Given the description of an element on the screen output the (x, y) to click on. 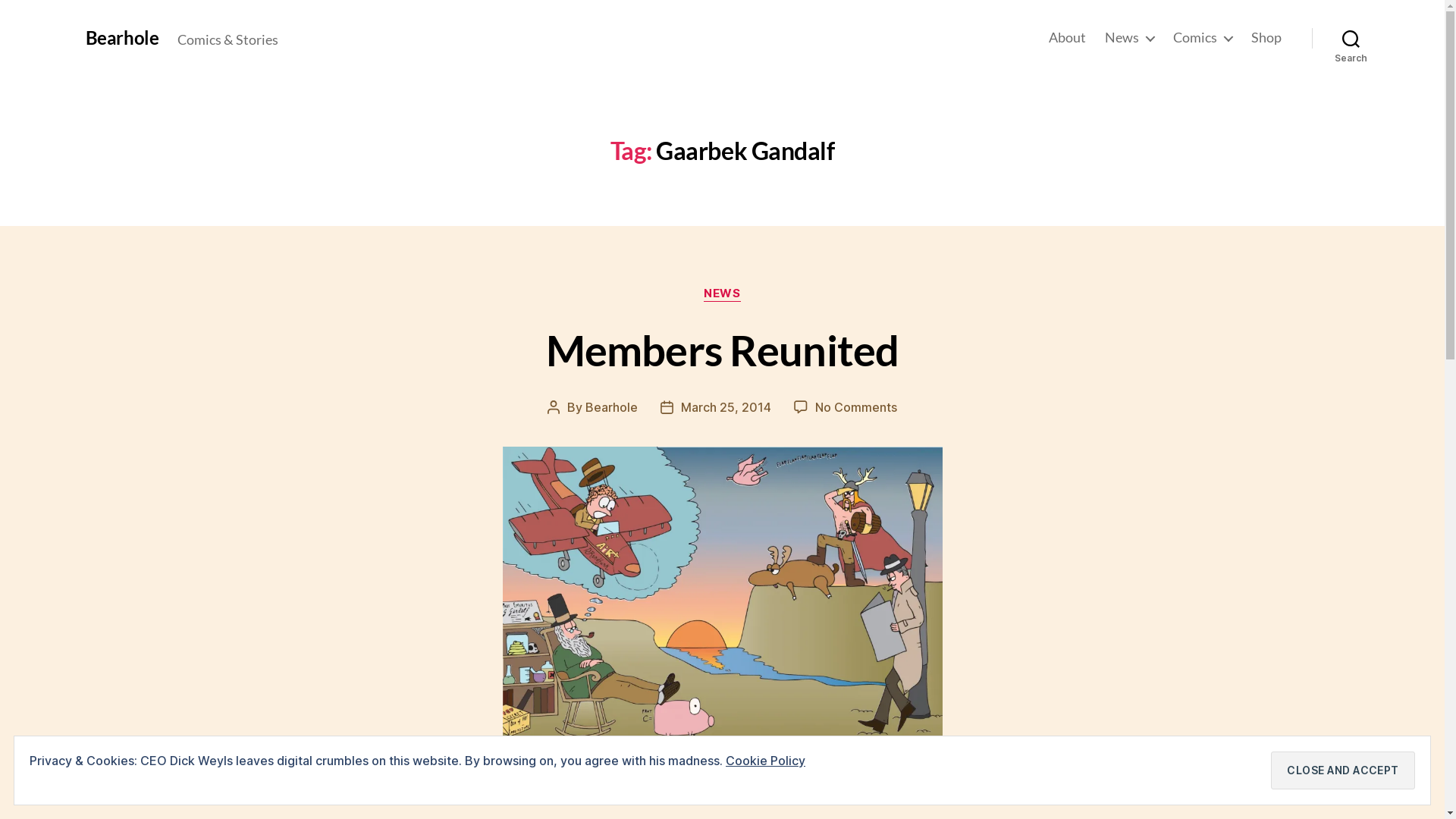
The Bearhole Family Element type: hover (721, 602)
March 25, 2014 Element type: text (725, 406)
No Comments
on Members Reunited Element type: text (856, 406)
Bearhole Element type: text (611, 406)
News Element type: text (1128, 37)
NEWS Element type: text (721, 293)
Search Element type: text (1350, 37)
Bearhole Element type: text (121, 37)
Close and accept Element type: text (1342, 770)
About Element type: text (1066, 37)
Comics Element type: text (1201, 37)
Members Reunited Element type: text (722, 349)
Cookie Policy Element type: text (765, 760)
Shop Element type: text (1266, 37)
